Given the description of an element on the screen output the (x, y) to click on. 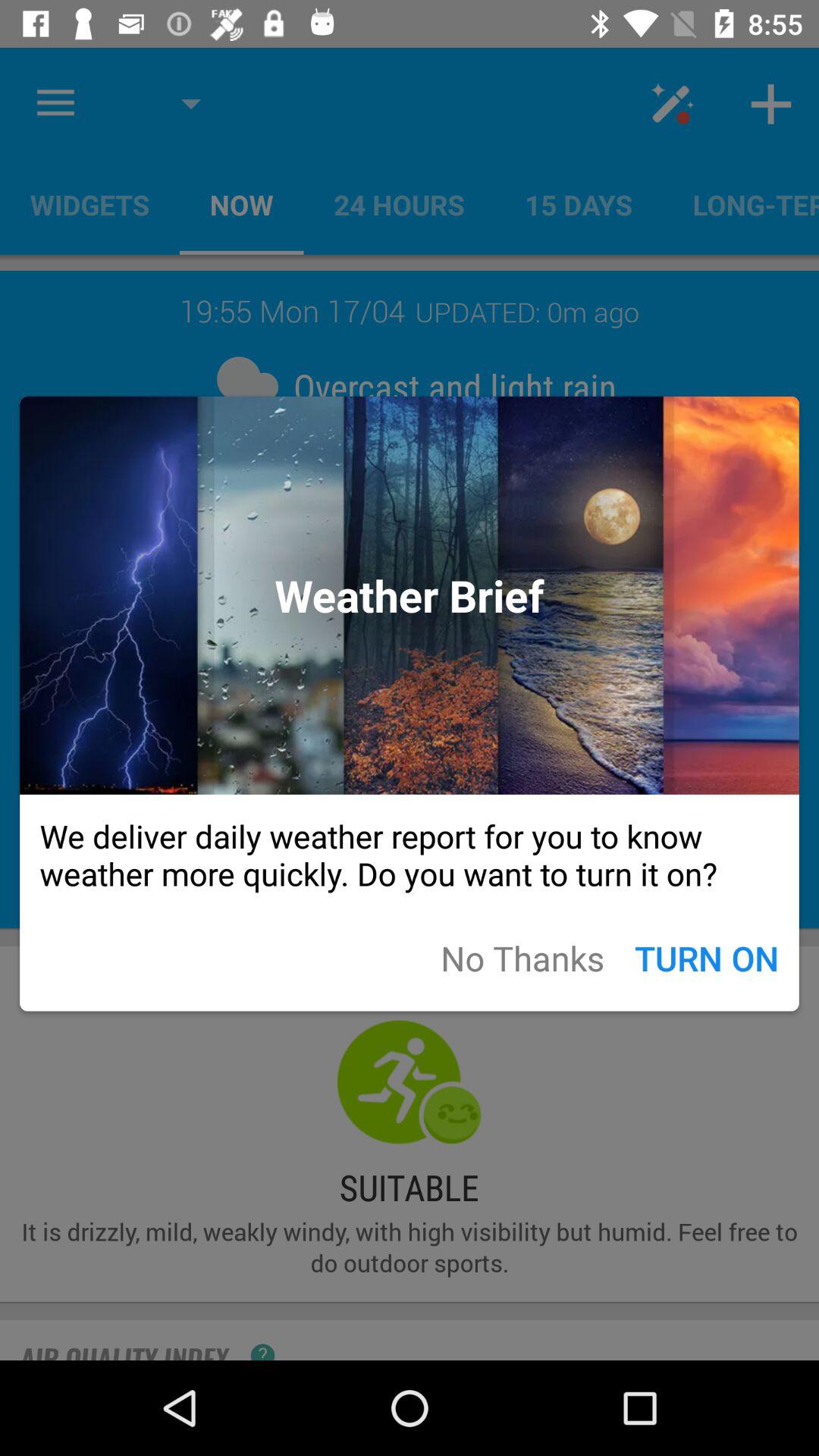
flip until the no thanks app (522, 958)
